Given the description of an element on the screen output the (x, y) to click on. 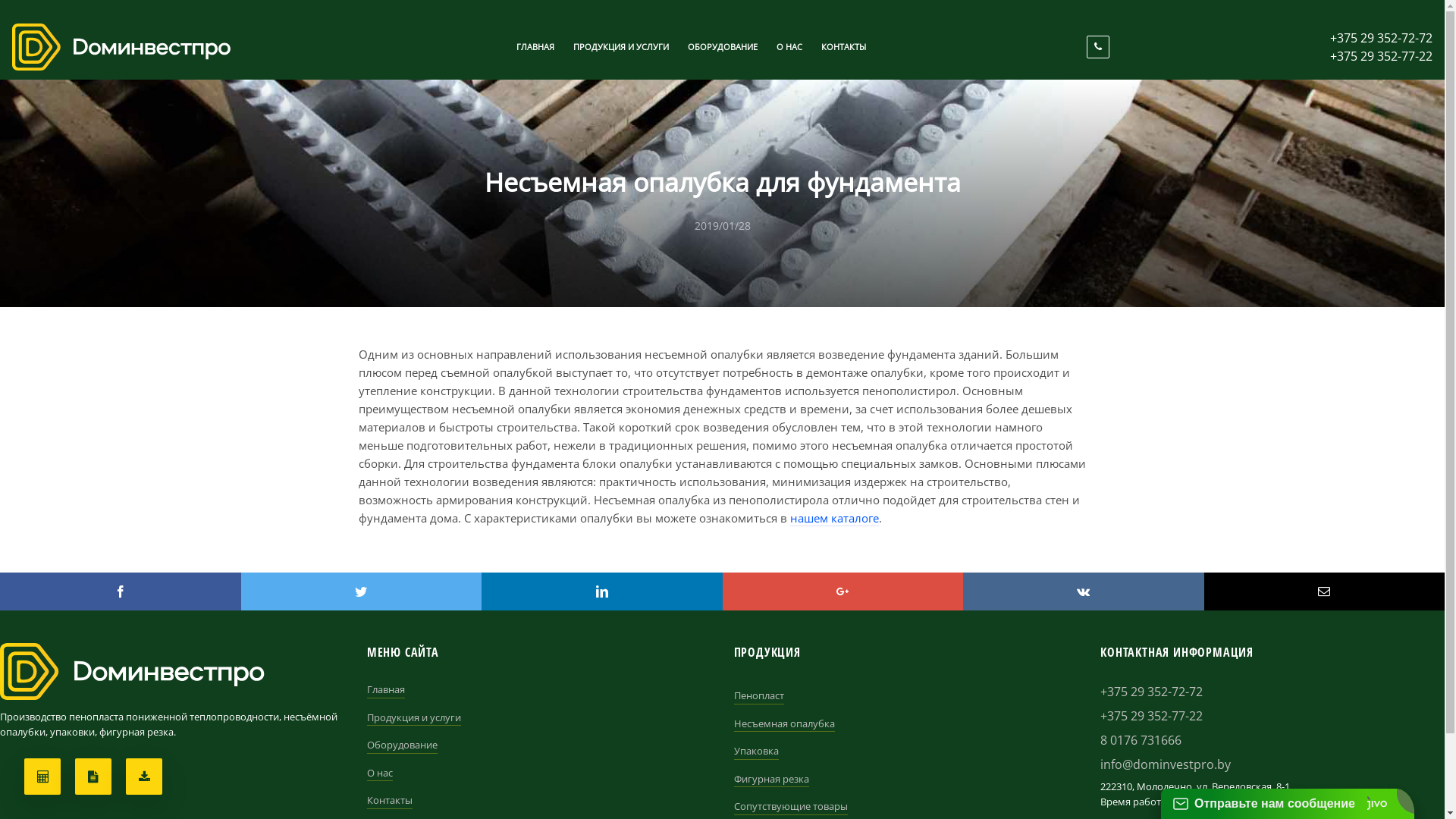
Vk Element type: text (1083, 591)
Email Element type: text (1324, 591)
+375 29 352-77-22 Element type: text (1381, 56)
Twitter Element type: text (361, 591)
Google+ Element type: text (842, 591)
Linkedin Element type: text (601, 591)
8 0176 731666 Element type: text (1272, 740)
+375 29 352-72-72 Element type: text (1272, 691)
info@dominvestpro.by Element type: text (1272, 764)
+375 29 352-77-22 Element type: text (1272, 715)
+375 29 352-72-72 Element type: text (1381, 37)
Facebook Element type: text (120, 591)
